Given the description of an element on the screen output the (x, y) to click on. 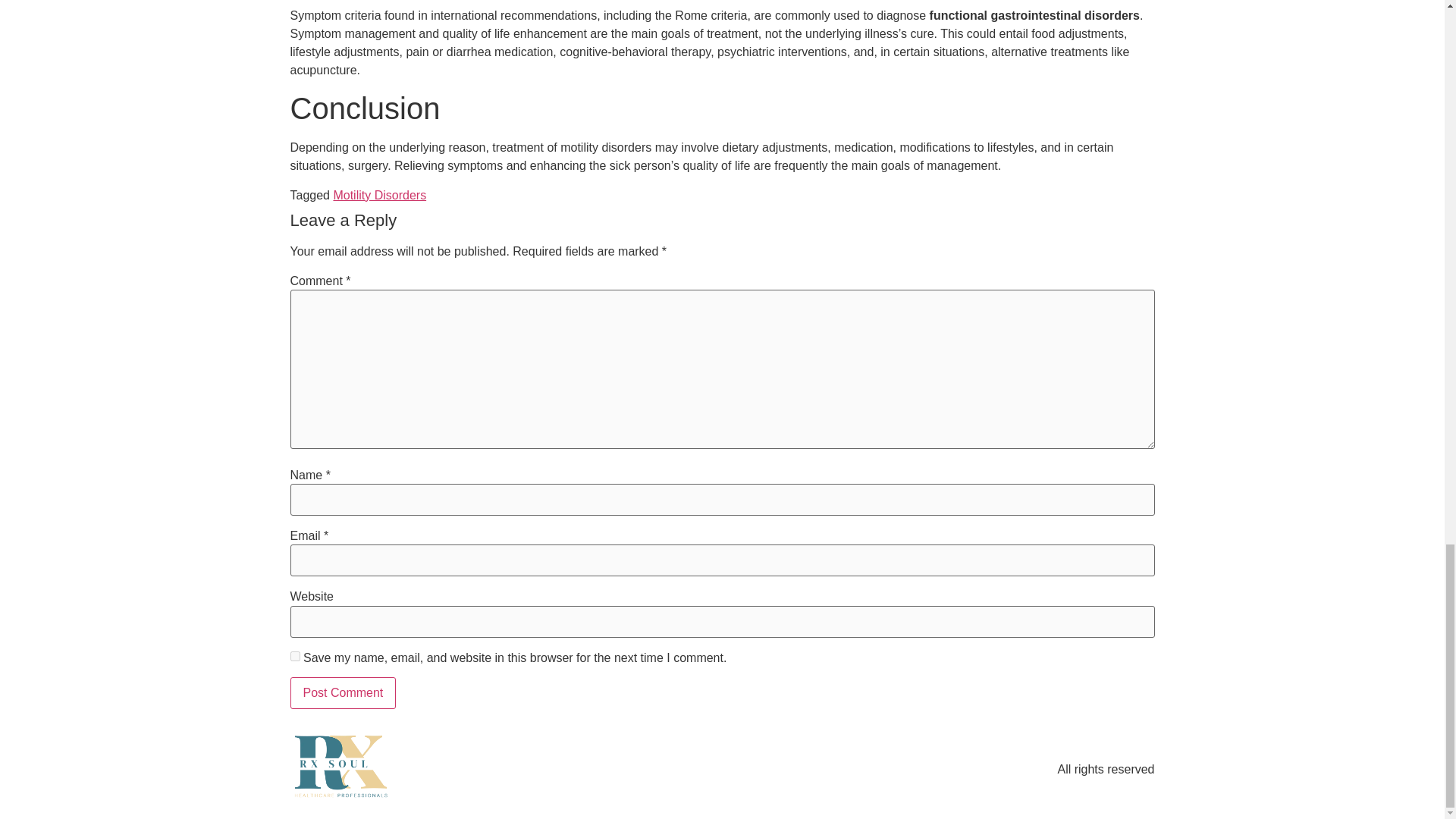
Motility Disorders (379, 195)
Post Comment (342, 693)
yes (294, 655)
Post Comment (342, 693)
